Given the description of an element on the screen output the (x, y) to click on. 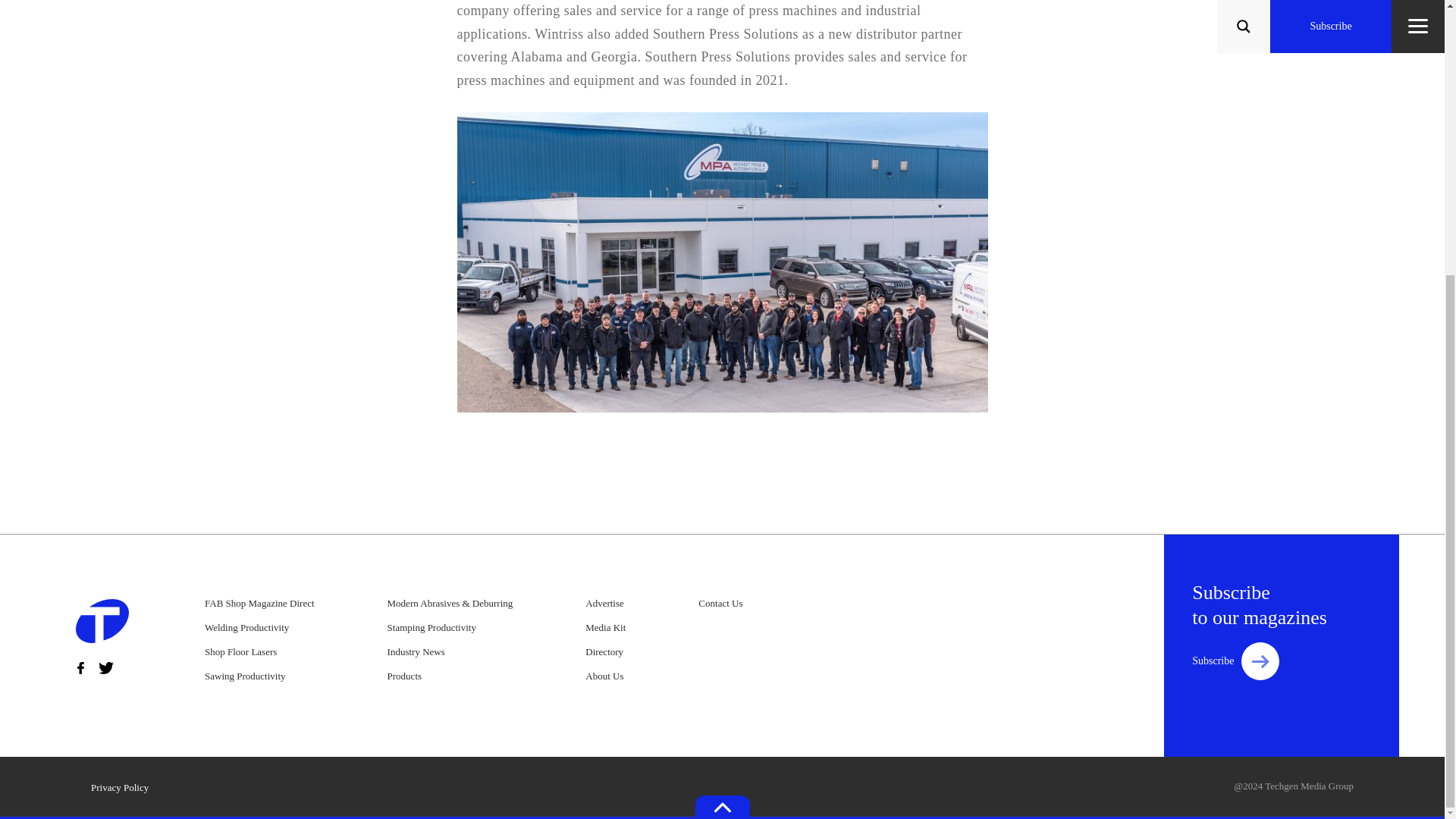
Back to the homepage (102, 624)
